Given the description of an element on the screen output the (x, y) to click on. 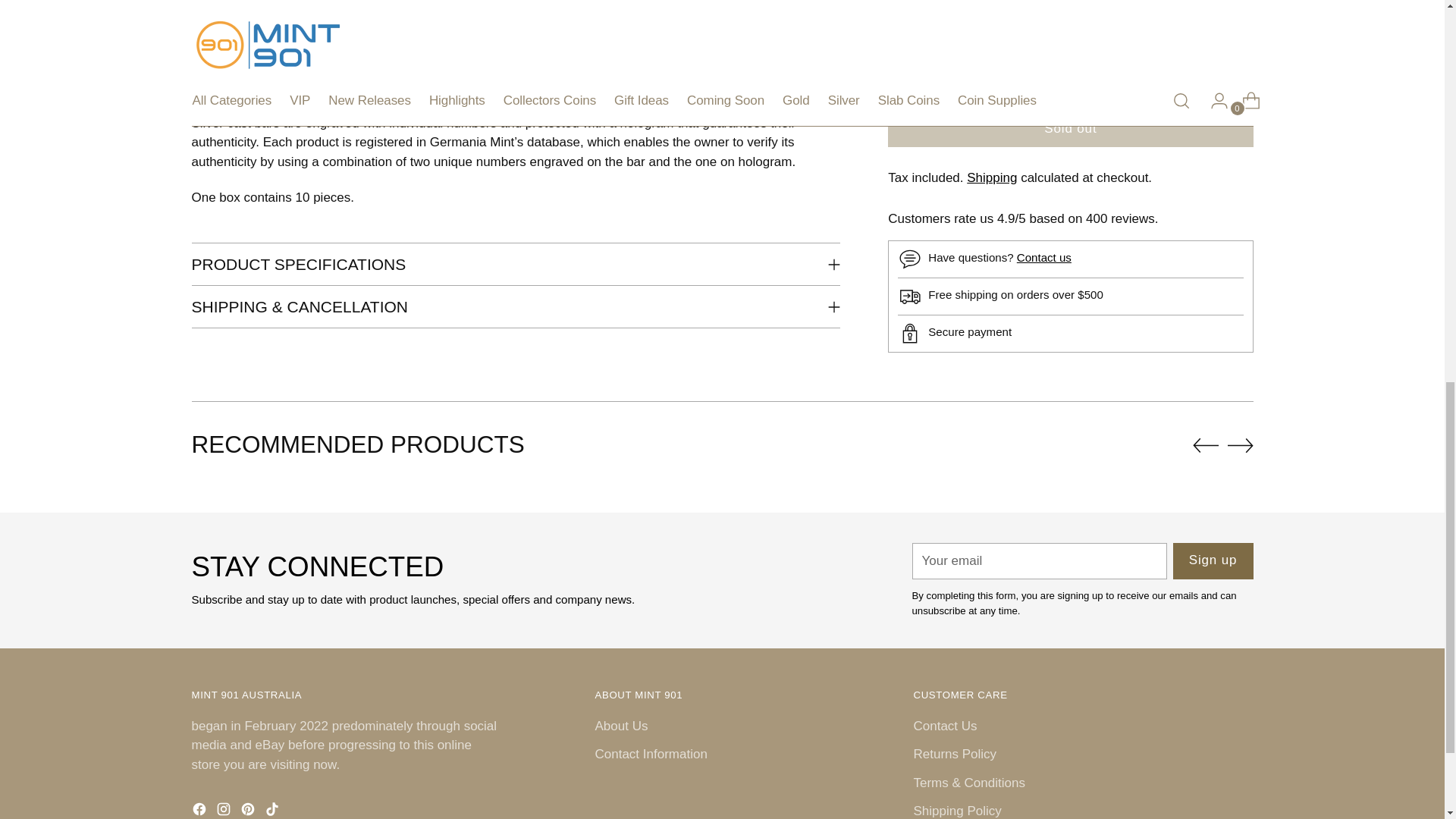
Mint 901 Australia on Facebook (199, 810)
Mint 901 Australia on Pinterest (248, 810)
Mint 901 Australia on Tiktok (272, 810)
Mint 901 Australia on Instagram (223, 810)
